Given the description of an element on the screen output the (x, y) to click on. 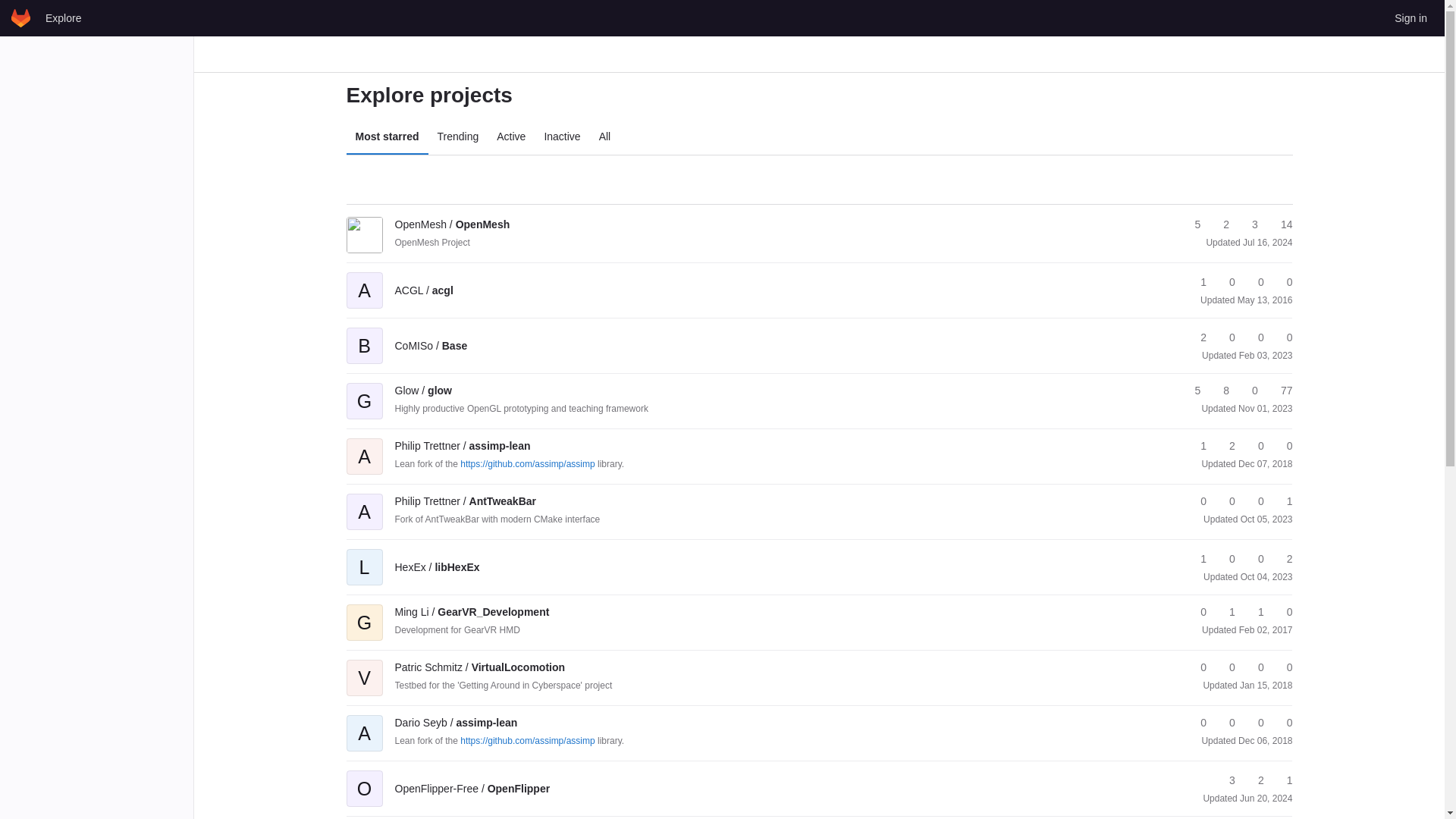
OpenMesh (451, 224)
A (363, 279)
A (363, 445)
14 (1279, 224)
Stars (1190, 224)
acgl (423, 290)
0 (1282, 282)
Most starred (387, 135)
Forks (1224, 282)
2 (1218, 224)
0 (1224, 337)
Issues (1279, 224)
Merge requests (1248, 224)
Homepage (20, 17)
Explore (63, 17)
